Given the description of an element on the screen output the (x, y) to click on. 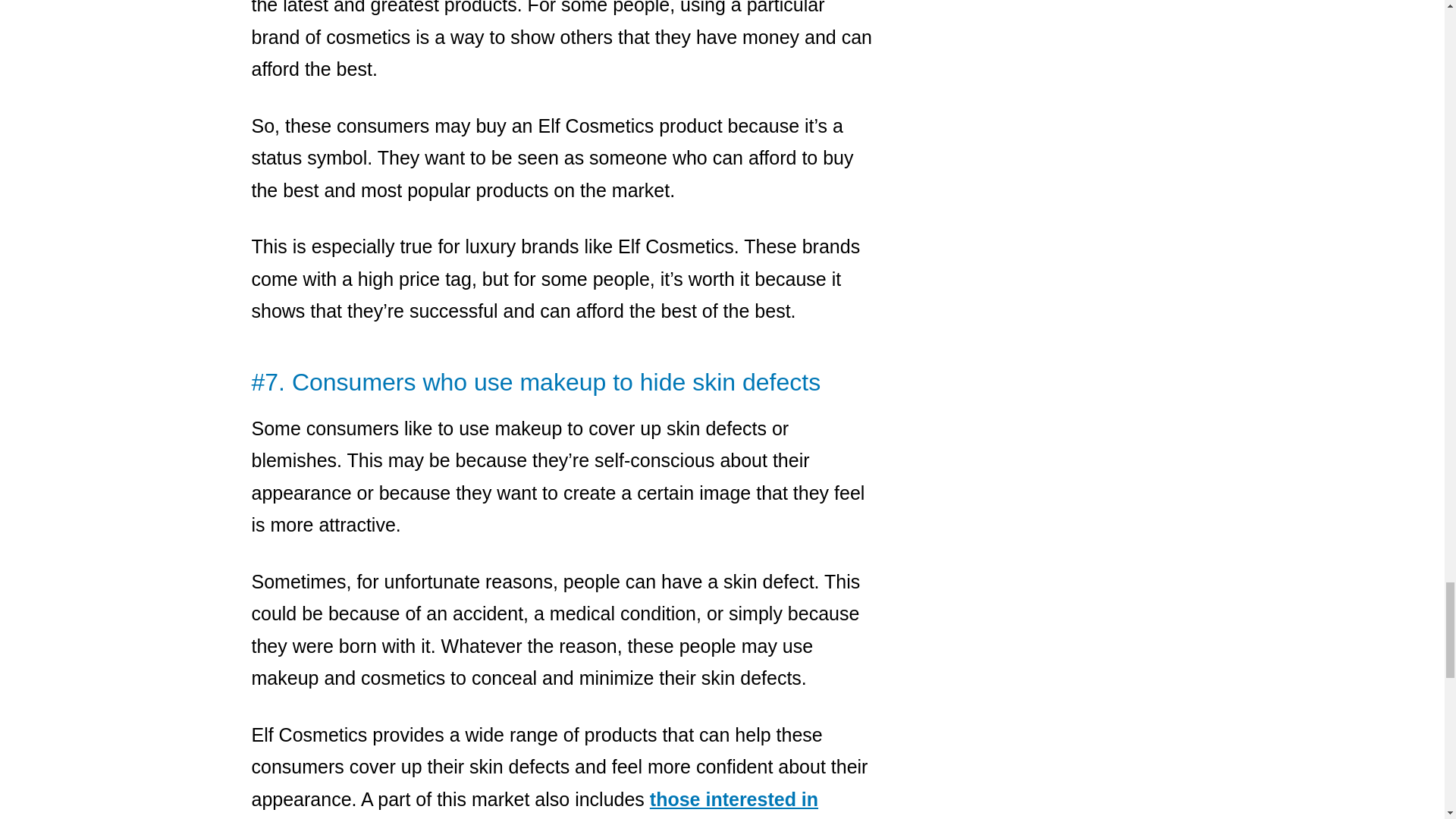
those interested in natural skin care products (534, 803)
